Given the description of an element on the screen output the (x, y) to click on. 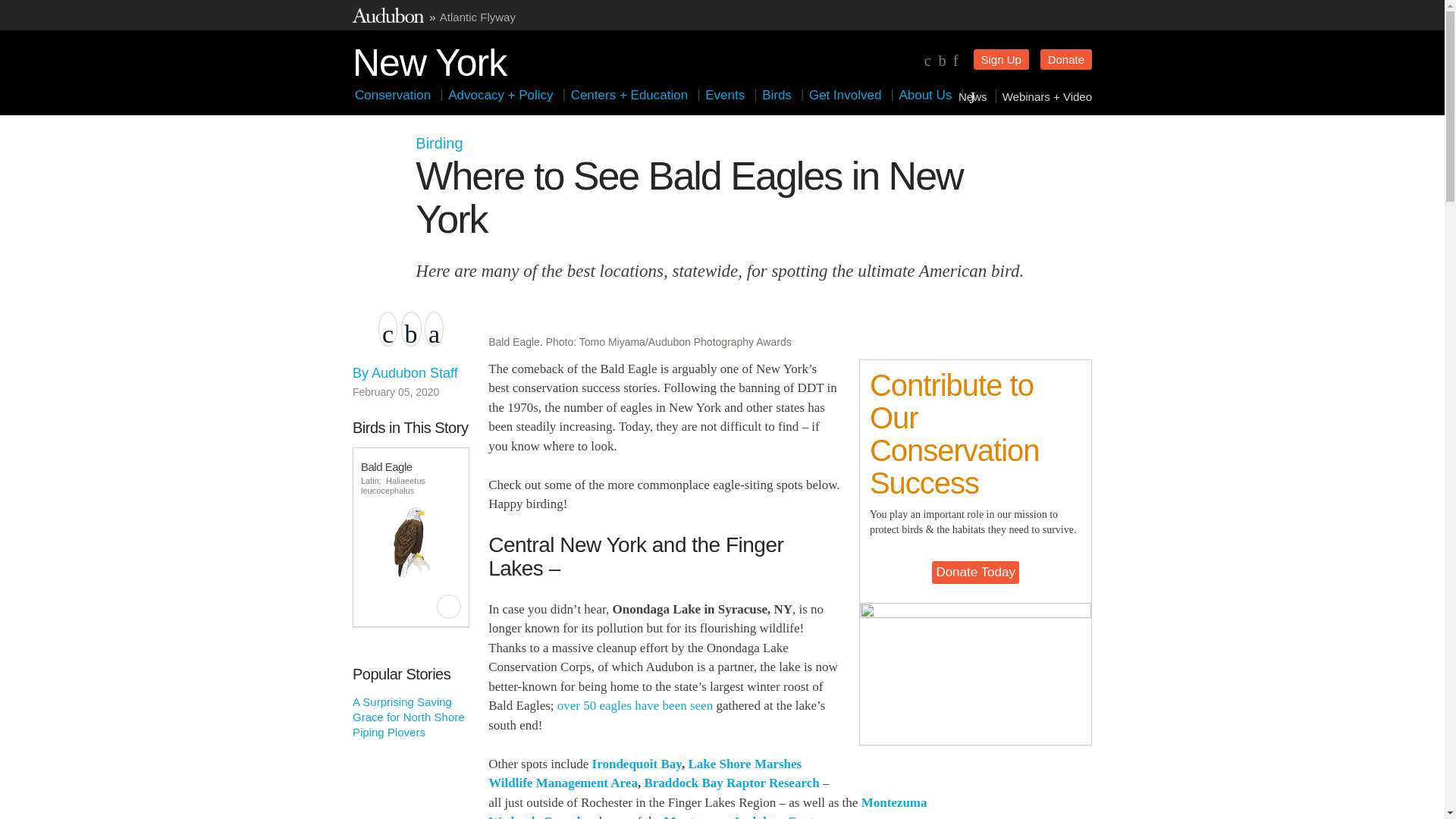
Conservation (392, 95)
Play Bald Eagle sound (448, 606)
Sign Up (1001, 59)
Donate (1066, 59)
Birds (776, 95)
Atlantic Flyway (477, 16)
Get Involved (845, 95)
Events (724, 95)
New York (429, 59)
